Given the description of an element on the screen output the (x, y) to click on. 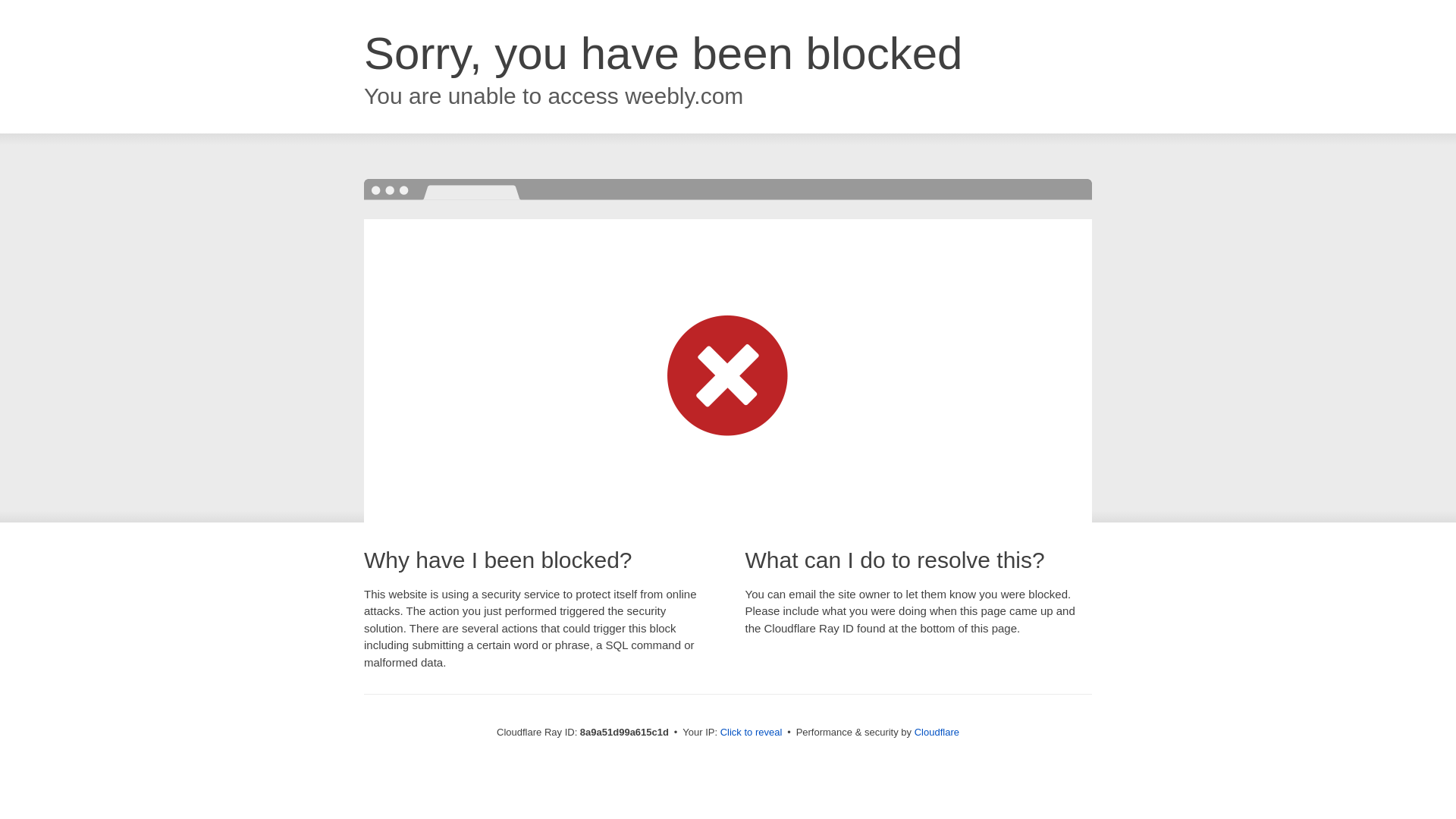
Cloudflare (936, 731)
Click to reveal (751, 732)
